Given the description of an element on the screen output the (x, y) to click on. 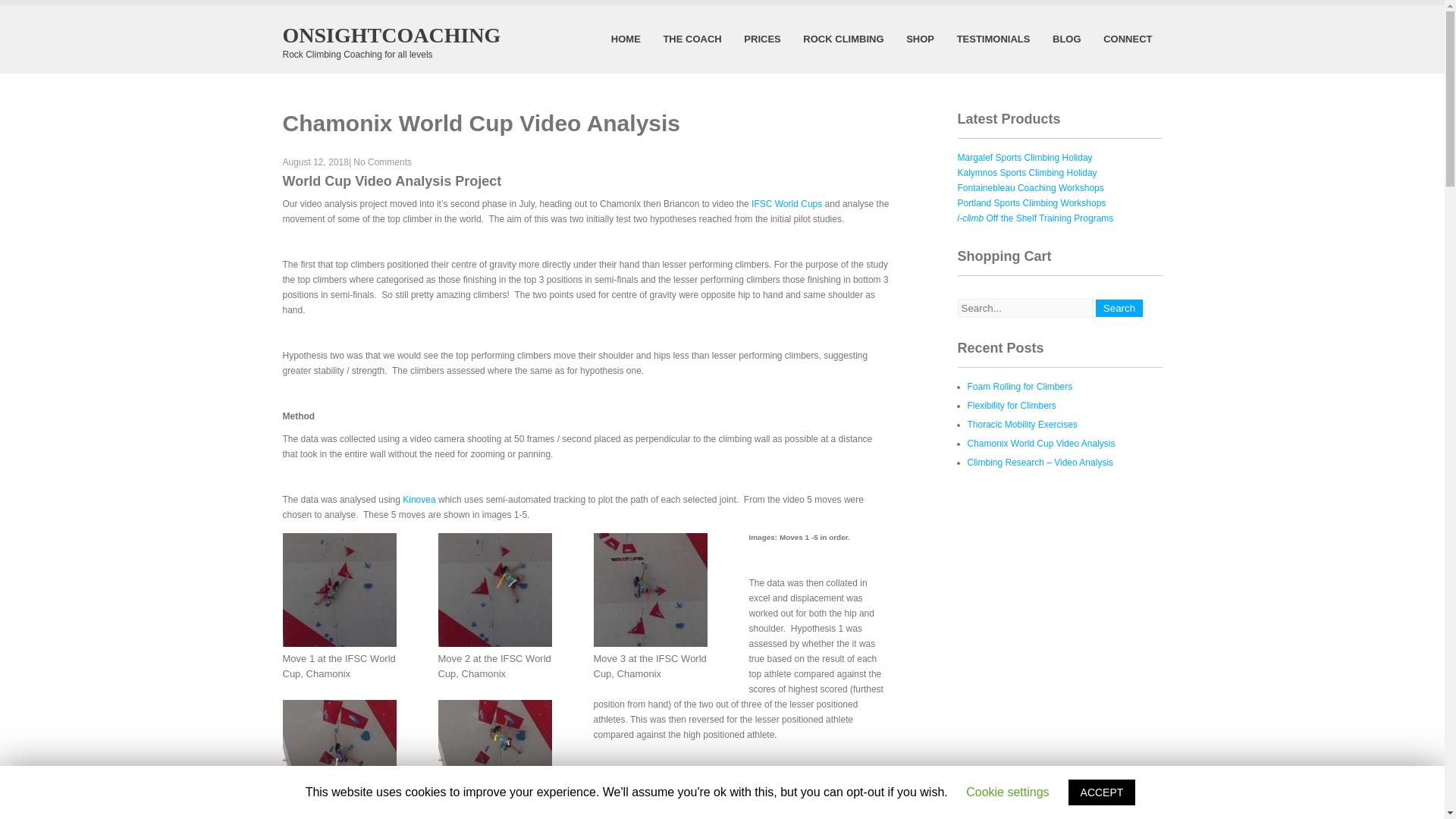
CONNECT (1127, 38)
Search (1119, 307)
No Comments (382, 162)
Chamonix World Cup Video Analysis (1041, 443)
TESTIMONIALS (994, 38)
Kalymnos Sports Climbing Holiday (1026, 172)
ROCK CLIMBING (843, 38)
Portland Sports Climbing Workshops (1030, 203)
Rock Climbing Training (843, 38)
IFSC World Cups (786, 204)
